Given the description of an element on the screen output the (x, y) to click on. 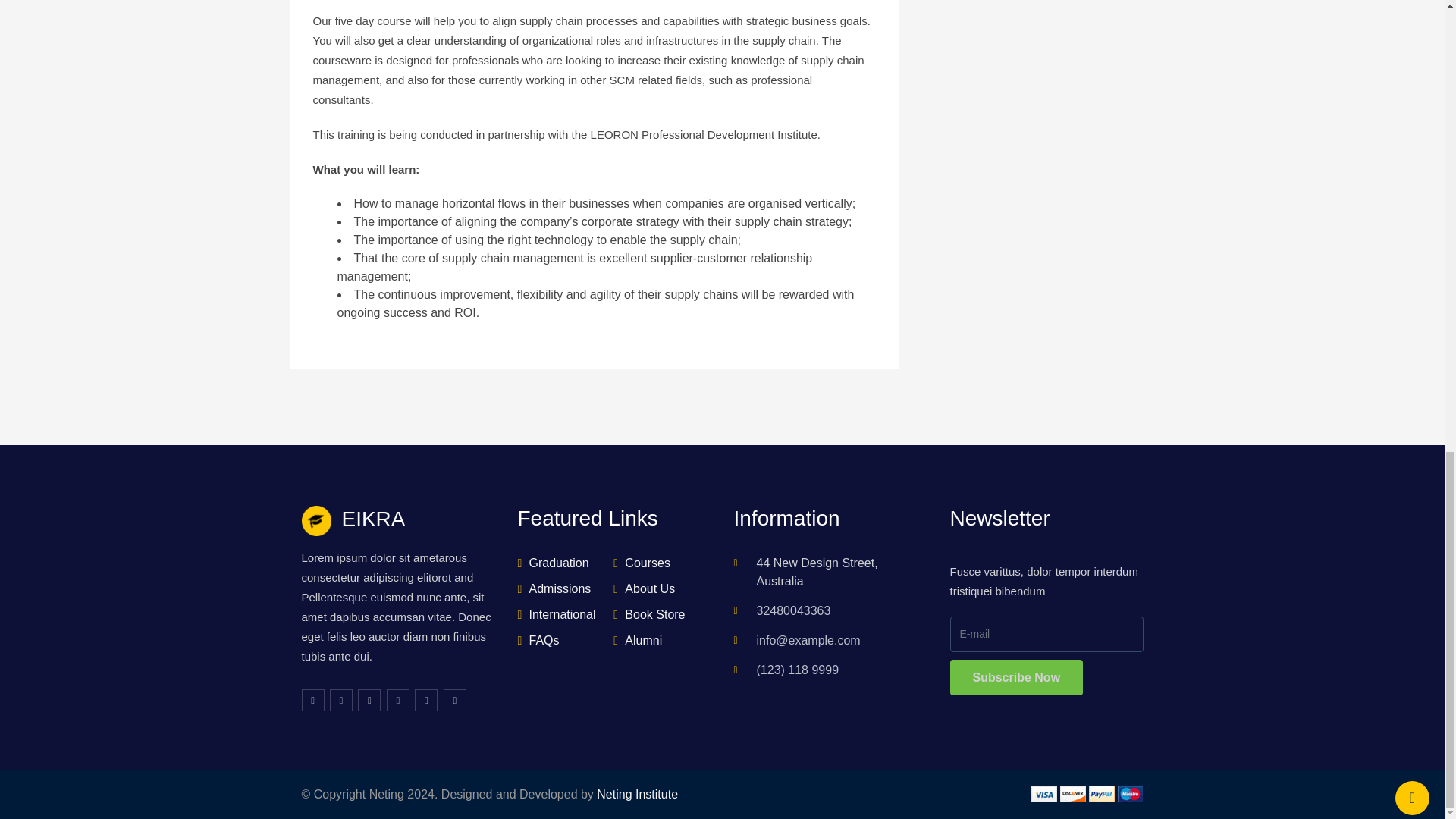
Subscribe Now (1016, 677)
